Given the description of an element on the screen output the (x, y) to click on. 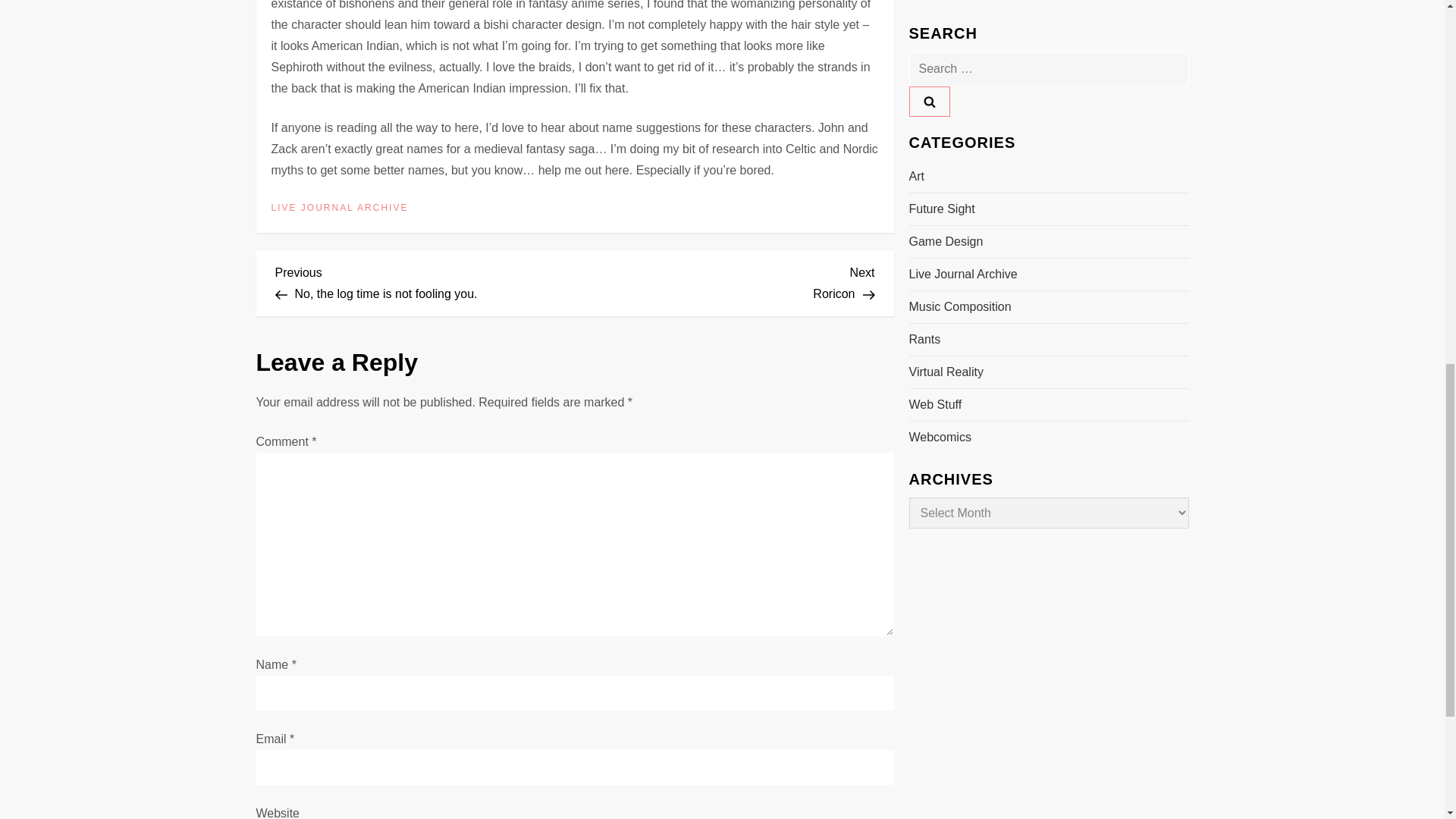
LIVE JOURNAL ARCHIVE (339, 208)
